Given the description of an element on the screen output the (x, y) to click on. 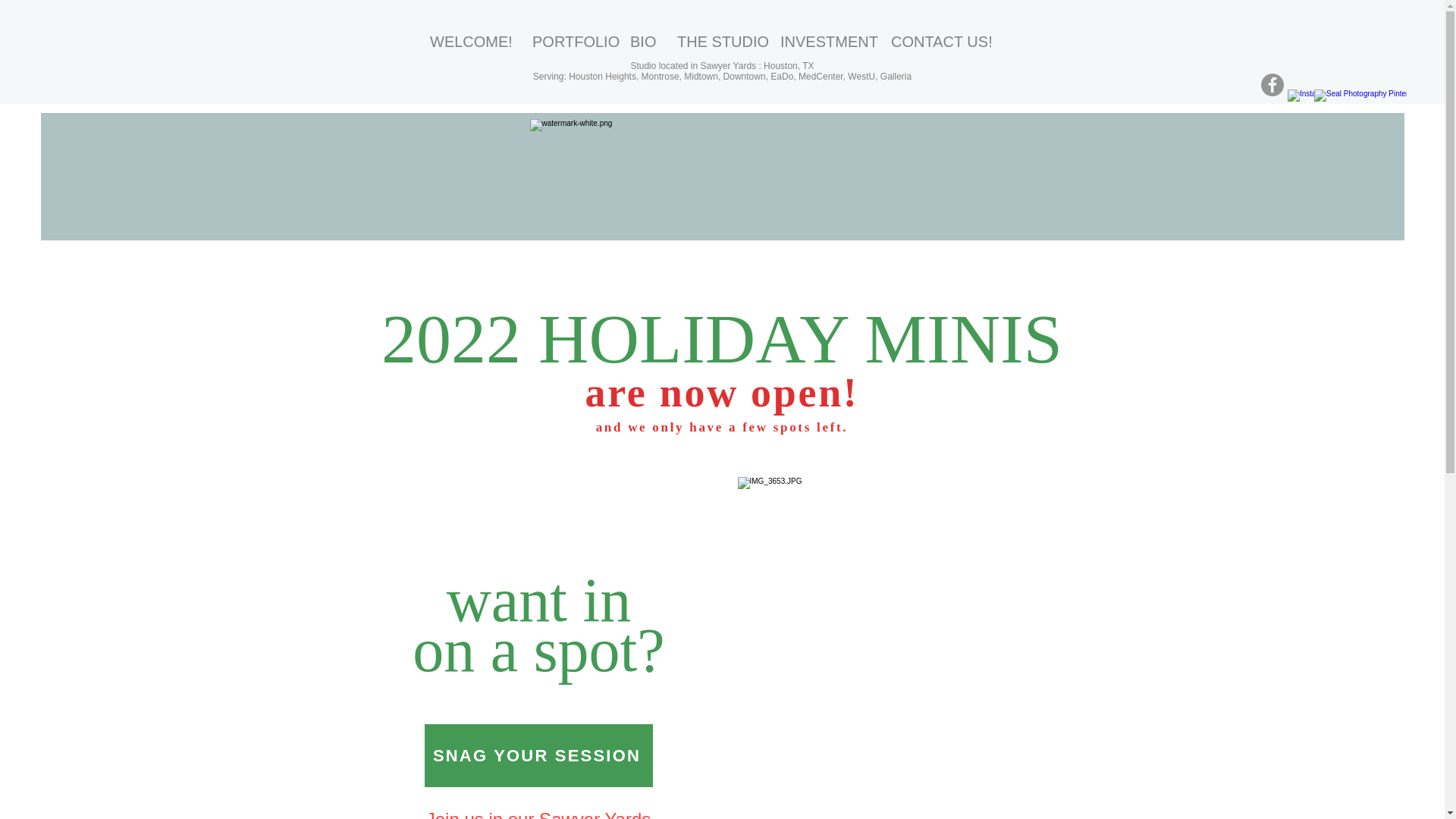
BIO (641, 41)
SNAG YOUR SESSION (538, 755)
WELCOME! (470, 41)
PORTFOLIO (569, 41)
THE STUDIO (716, 41)
INVESTMENT (823, 41)
CONTACT US! (939, 41)
